Given the description of an element on the screen output the (x, y) to click on. 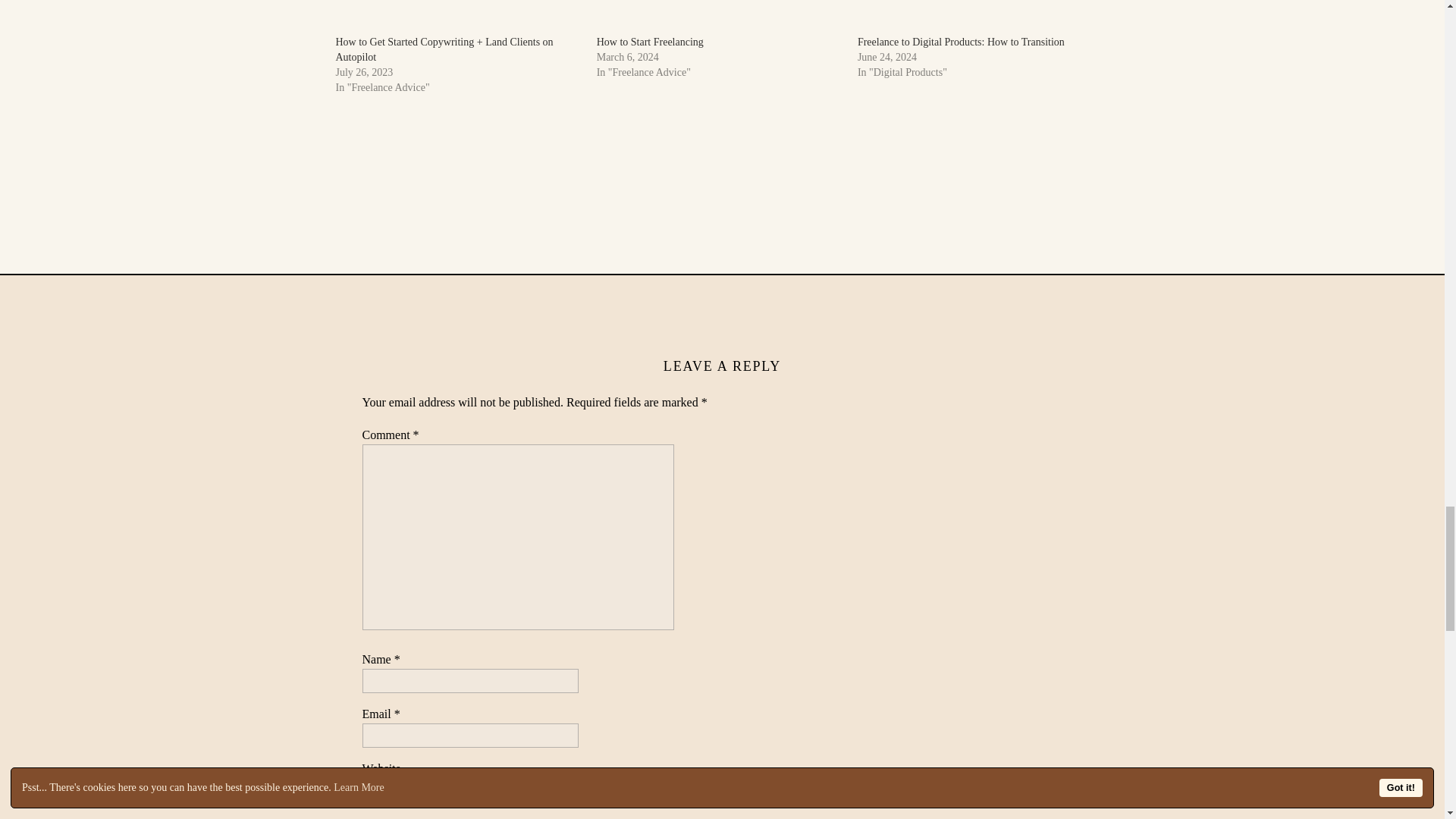
Freelance to Digital Products: How to Transition (960, 41)
How to Start Freelancing (719, 17)
Freelance to Digital Products: How to Transition (980, 17)
Freelance to Digital Products: How to Transition (960, 41)
How to Start Freelancing (649, 41)
How to Start Freelancing (649, 41)
